Given the description of an element on the screen output the (x, y) to click on. 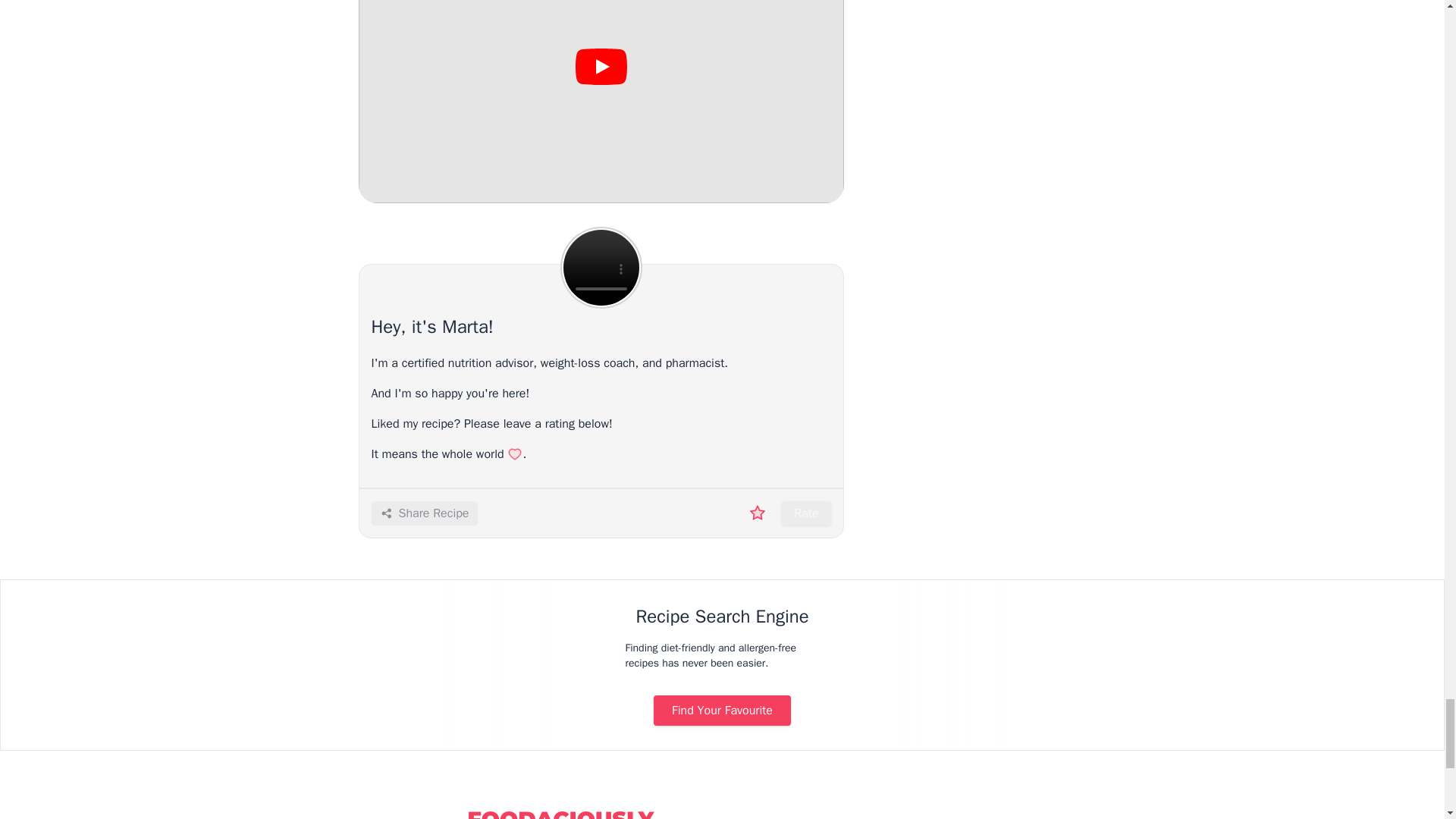
Kale Courgette and Feta Omelette (600, 101)
